Given the description of an element on the screen output the (x, y) to click on. 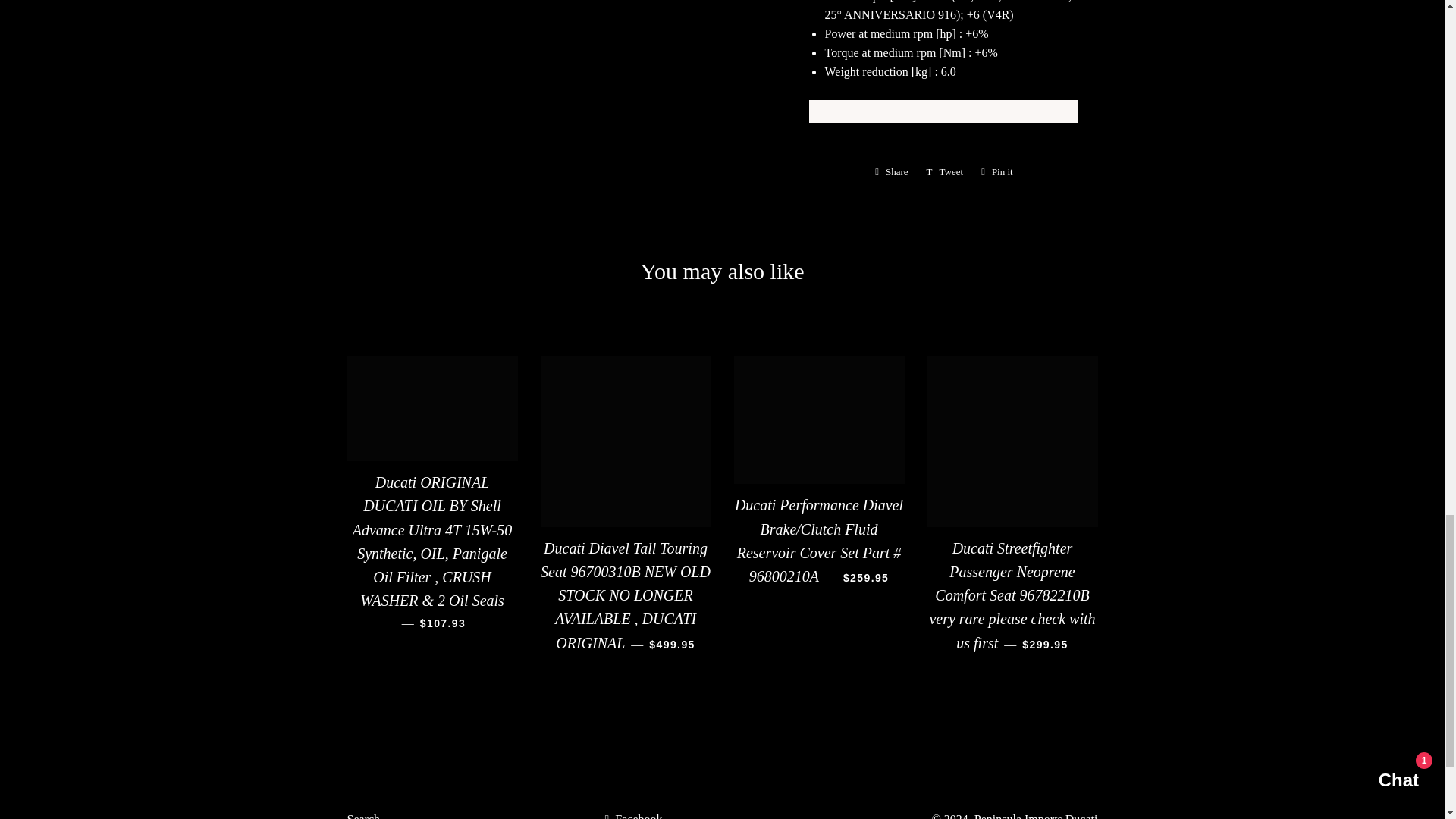
Peninsula Imports Ducati on Facebook (633, 816)
Share on Facebook (997, 171)
Tweet on Twitter (891, 171)
Pin on Pinterest (944, 171)
